Given the description of an element on the screen output the (x, y) to click on. 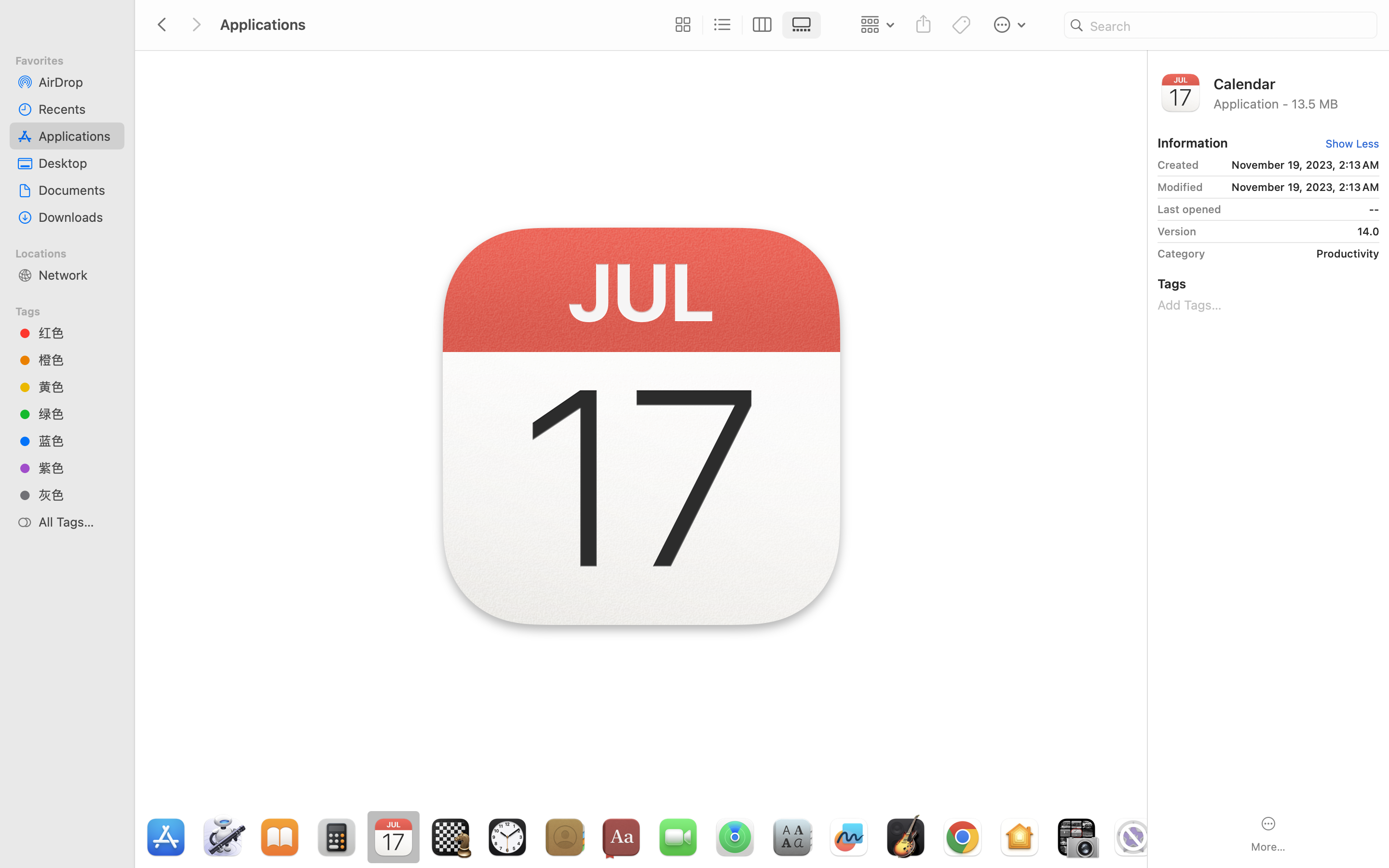
黄色 Element type: AXStaticText (77, 386)
绿色 Element type: AXStaticText (77, 413)
<AXUIElement 0x11d80ead0> {pid=510} Element type: AXRadioGroup (741, 24)
-- Element type: AXStaticText (1303, 209)
Downloads Element type: AXStaticText (77, 216)
